Given the description of an element on the screen output the (x, y) to click on. 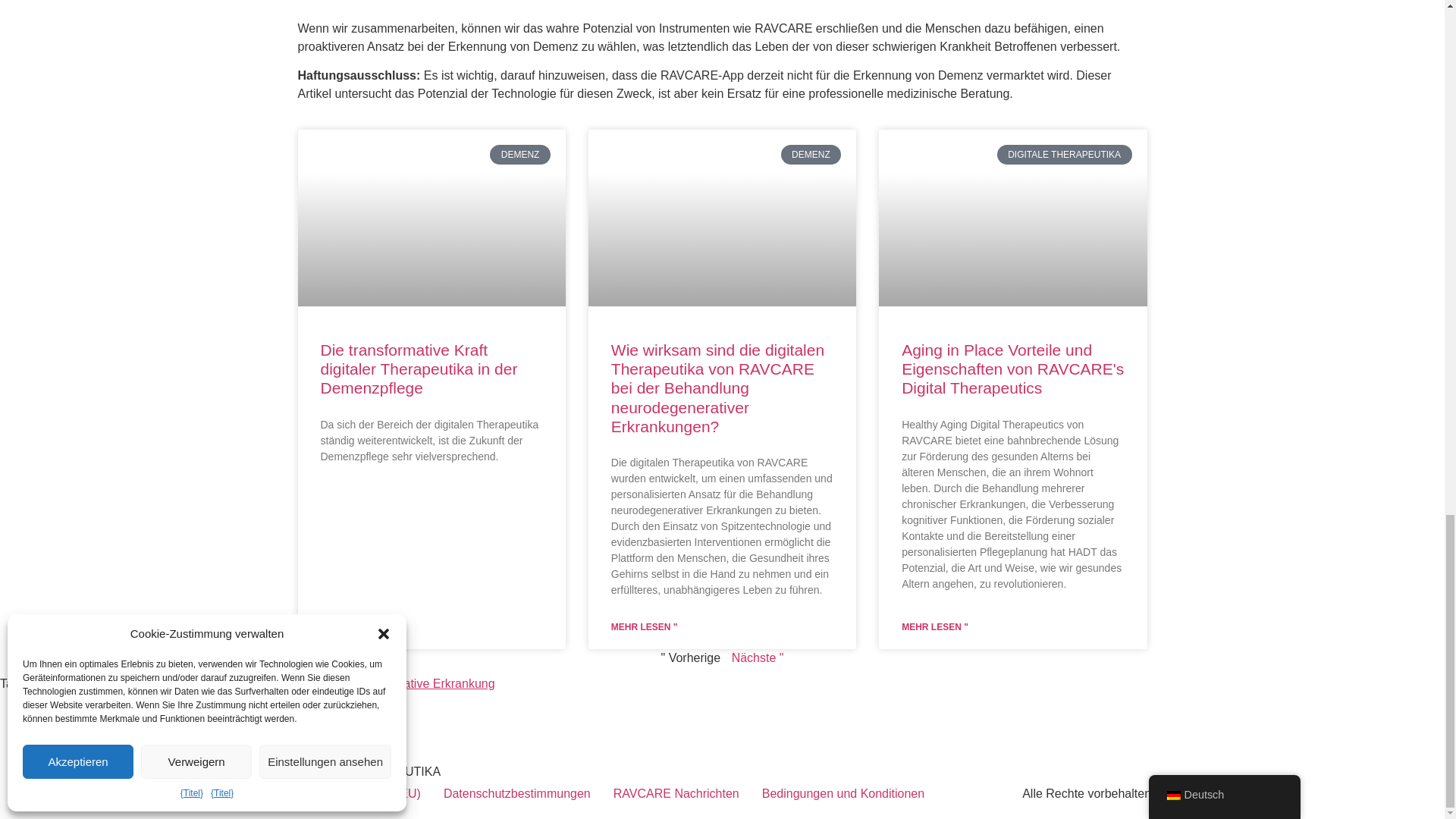
Kann Ihr Telefon helfen, Demenz zu erkennen? 3 (720, 216)
Kann Ihr Telefon helfen, Demenz zu erkennen? 2 (342, 306)
Kann Ihr Telefon helfen, Demenz zu erkennen? 2 (633, 306)
Kann Ihr Telefon helfen, Demenz zu erkennen? 5 (1010, 216)
Kann Ihr Telefon helfen, Demenz zu erkennen? 1 (429, 216)
Kann Ihr Telefon helfen, Demenz zu erkennen? 2 (924, 306)
